Given the description of an element on the screen output the (x, y) to click on. 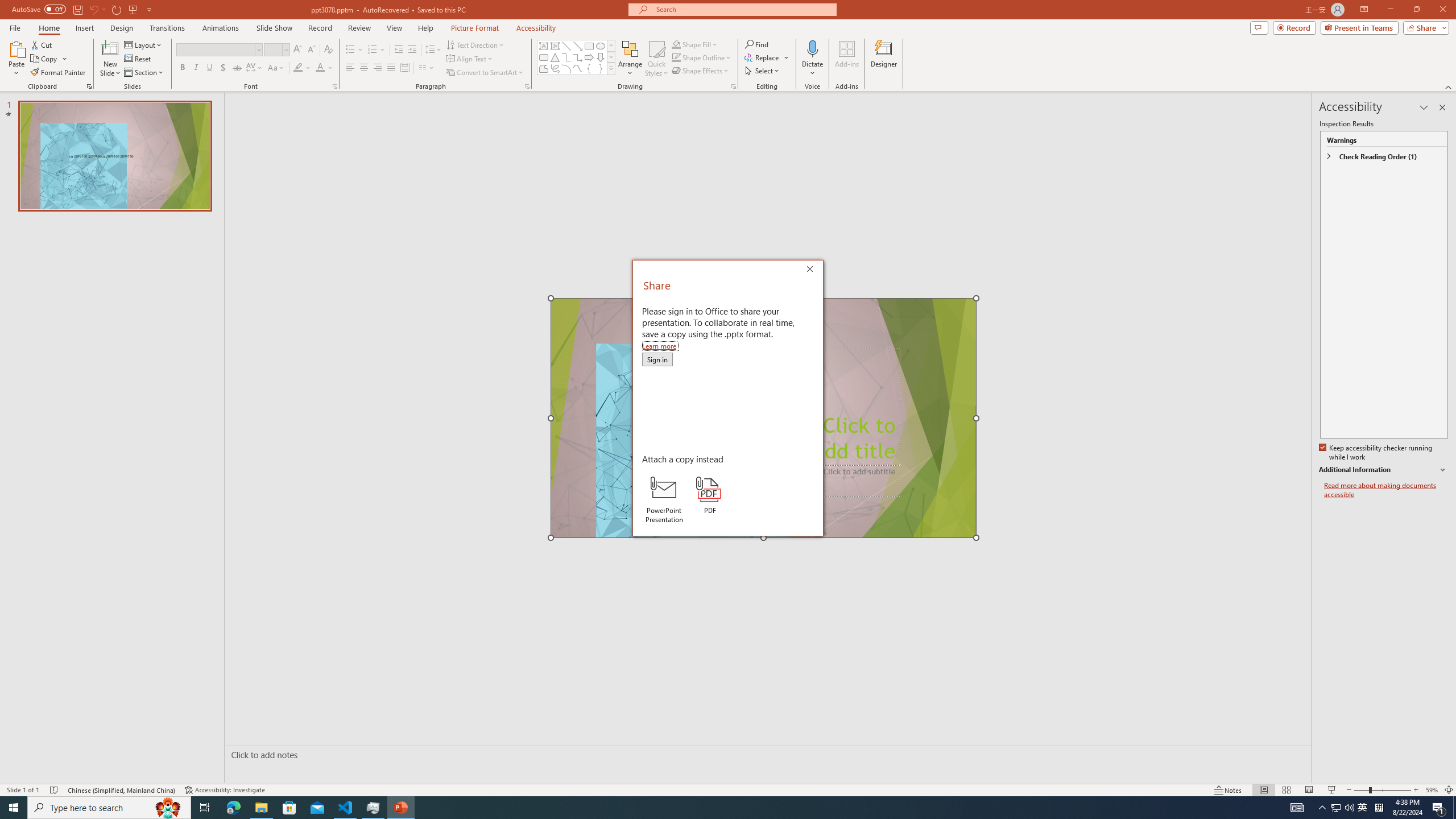
Action Center, 1 new notification (1439, 807)
